Given the description of an element on the screen output the (x, y) to click on. 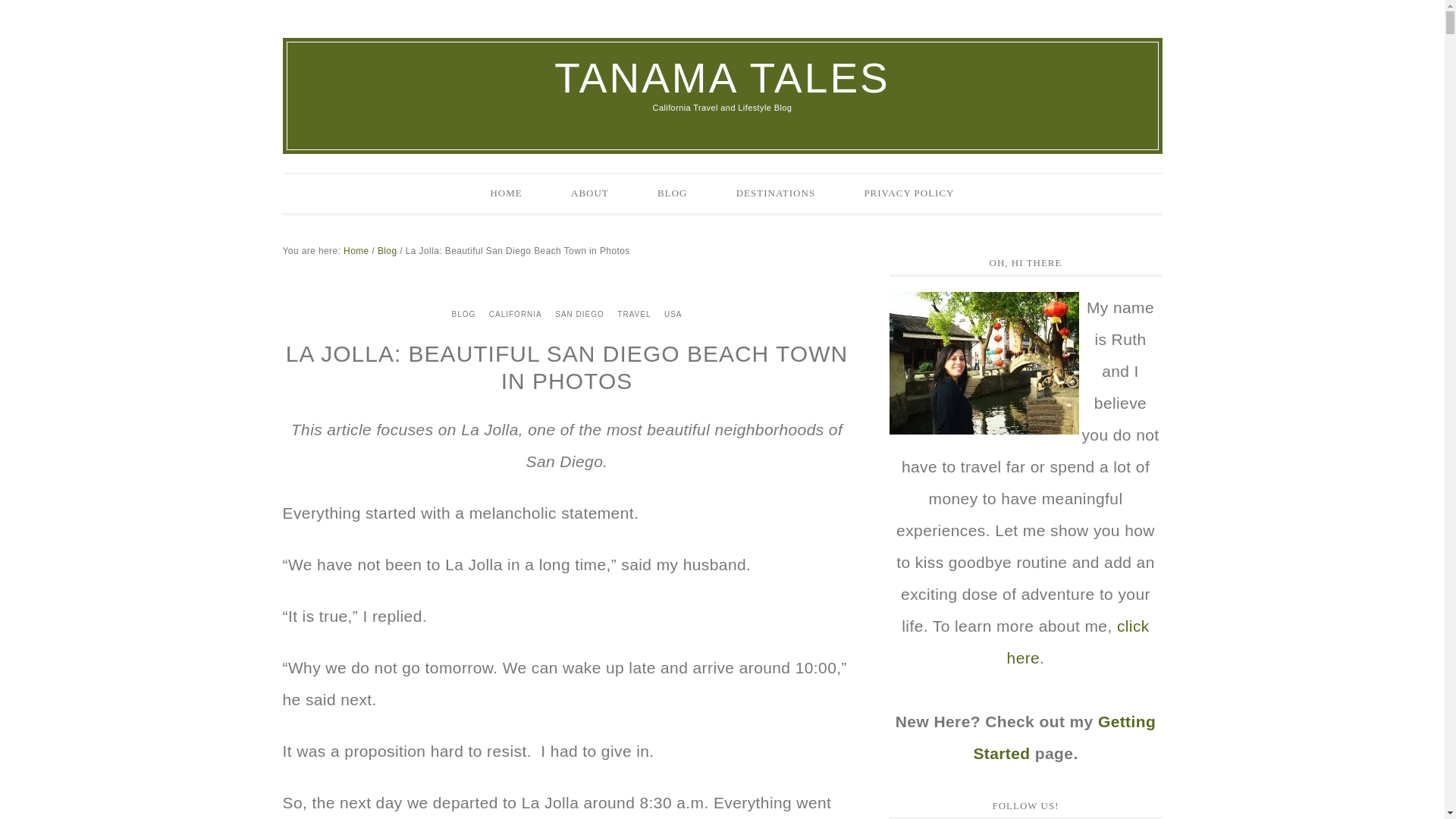
Home (356, 250)
BLOG (462, 313)
PRIVACY POLICY (908, 192)
USA (673, 313)
BLOG (672, 192)
CALIFORNIA (515, 313)
DESTINATIONS (775, 192)
HOME (505, 192)
Blog (387, 250)
SAN DIEGO (580, 313)
ABOUT (589, 192)
TANAMA TALES (722, 78)
TRAVEL (633, 313)
